Given the description of an element on the screen output the (x, y) to click on. 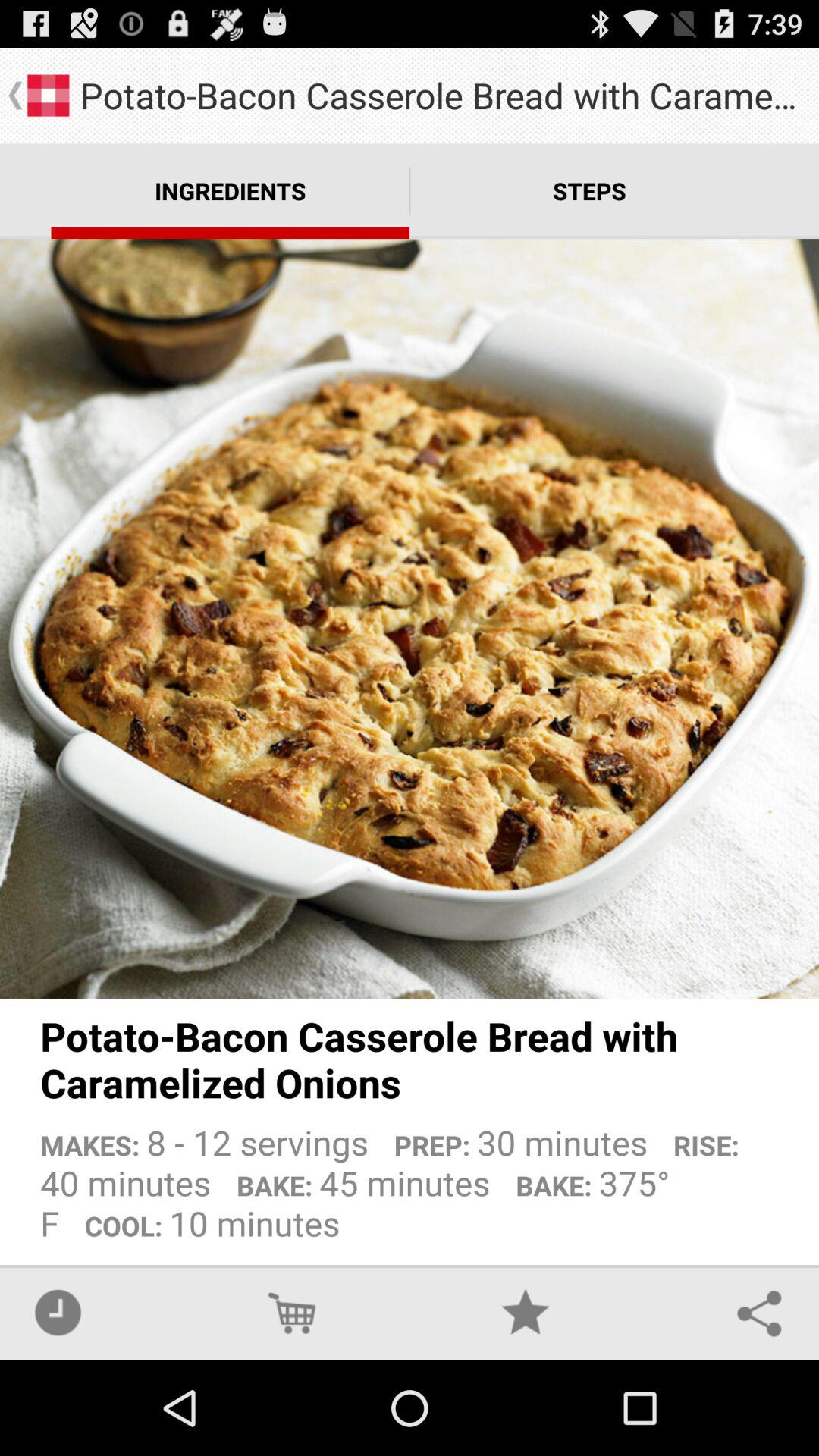
press the makes 8 12 (409, 1177)
